Given the description of an element on the screen output the (x, y) to click on. 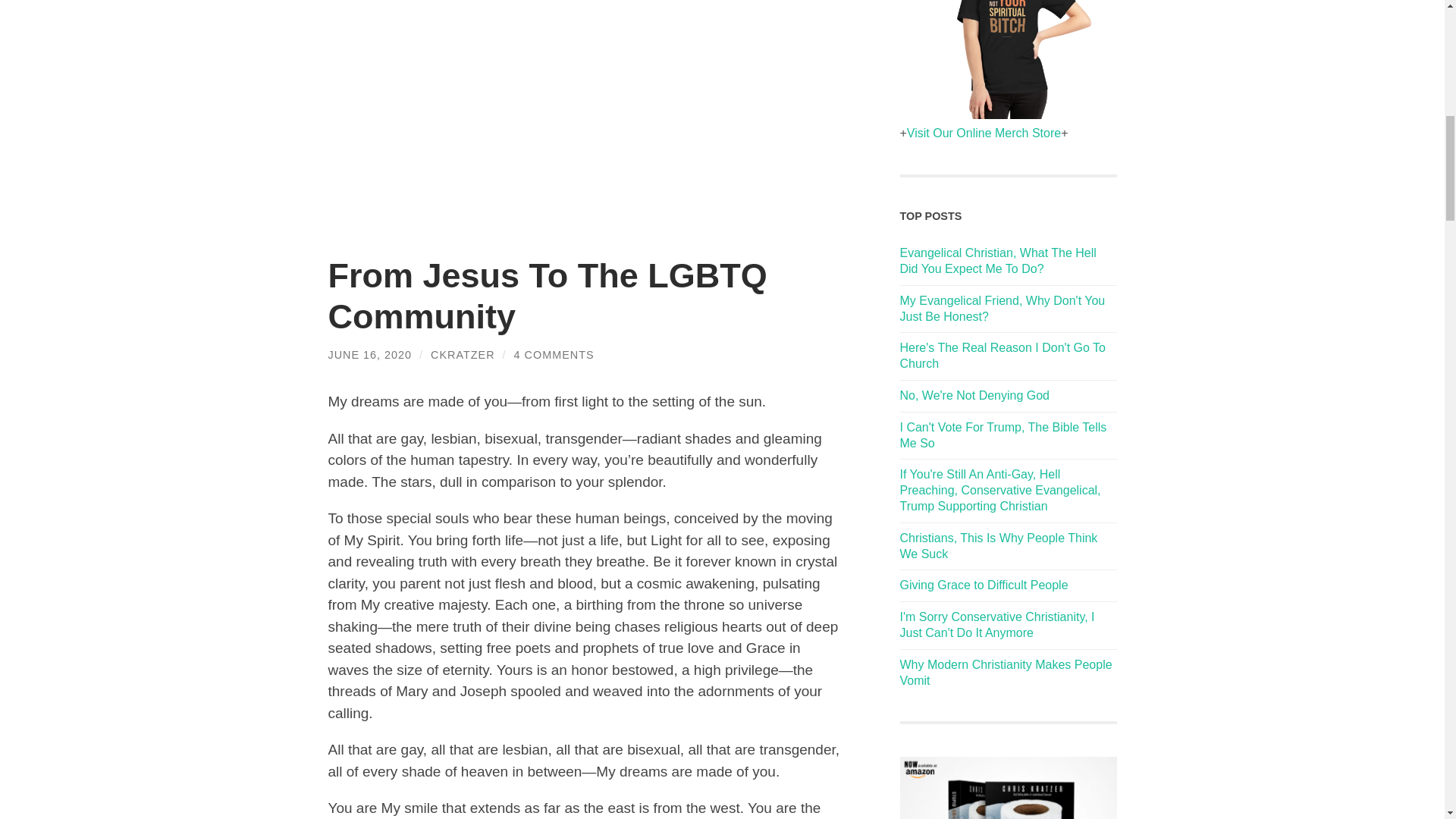
From Jesus To The LGBTQ Community (547, 295)
JUNE 16, 2020 (369, 354)
4 COMMENTS (553, 354)
Posts by ckratzer (462, 354)
CKRATZER (462, 354)
